Given the description of an element on the screen output the (x, y) to click on. 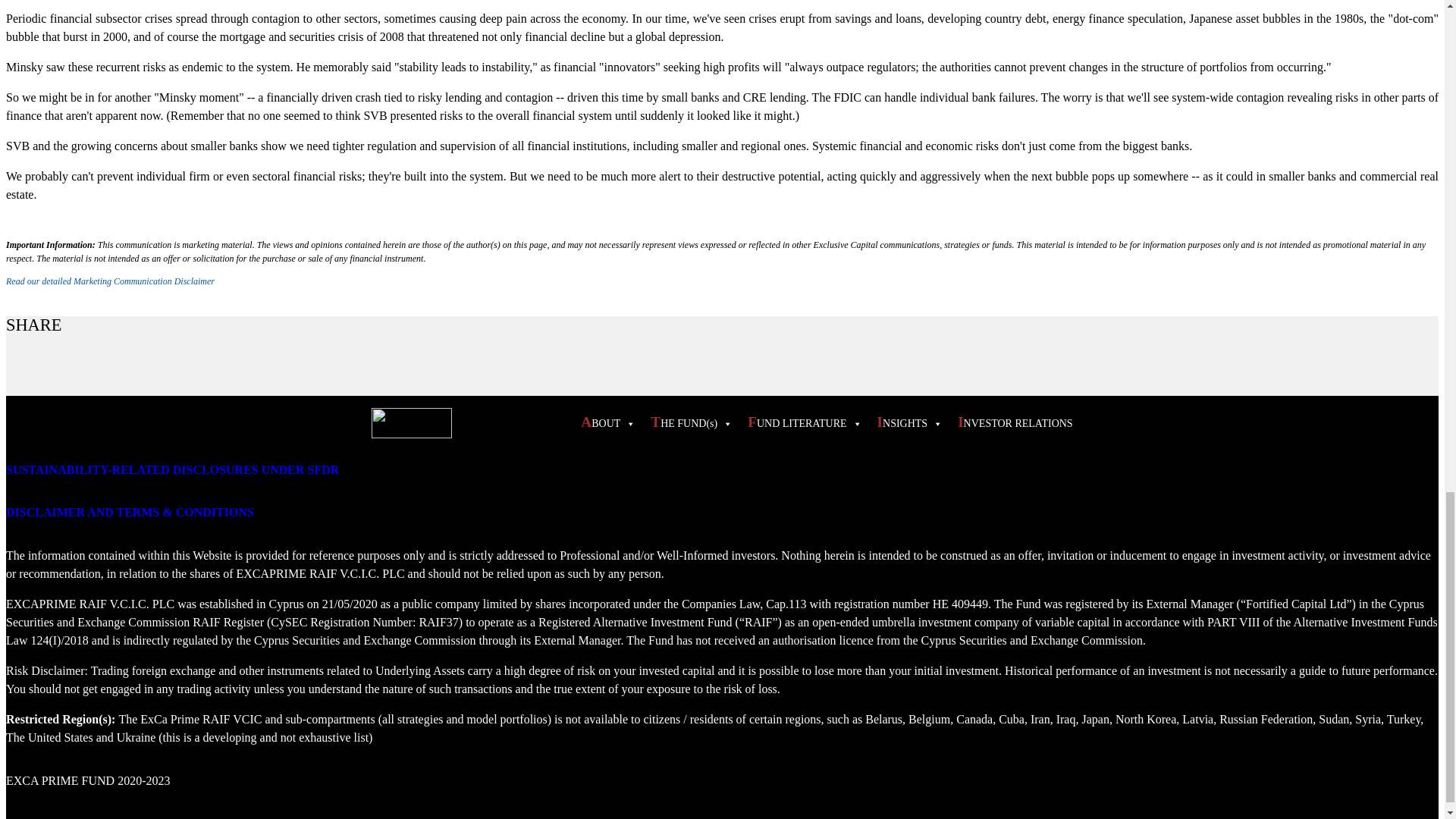
Read our detailed Marketing Communication Disclaimer (109, 281)
ABOUT (603, 421)
INSIGHTS (906, 421)
FUND LITERATURE (800, 421)
